Given the description of an element on the screen output the (x, y) to click on. 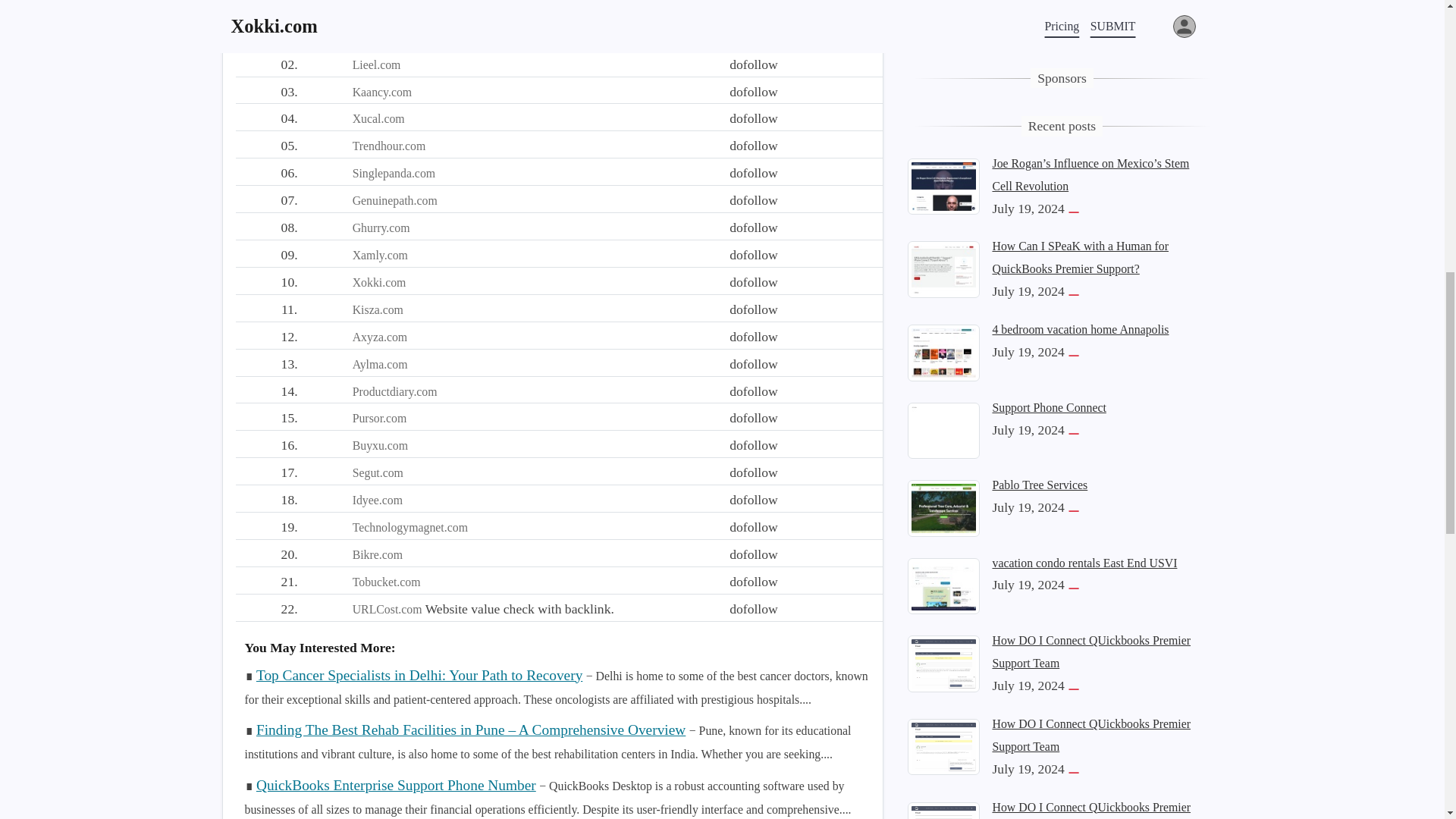
Singlepanda.com (393, 173)
Xucal.com (378, 118)
Ghurry.com (381, 227)
Genuinepath.com (395, 200)
Pursor.com (379, 418)
Technologymagnet.com (409, 526)
Productdiary.com (395, 391)
Xokki.com (379, 282)
Indexingtools.com (397, 37)
Kisza.com (377, 309)
Aylma.com (379, 364)
Lieel.com (376, 64)
Buyxu.com (379, 445)
Axyza.com (379, 336)
Xamly.com (379, 254)
